Given the description of an element on the screen output the (x, y) to click on. 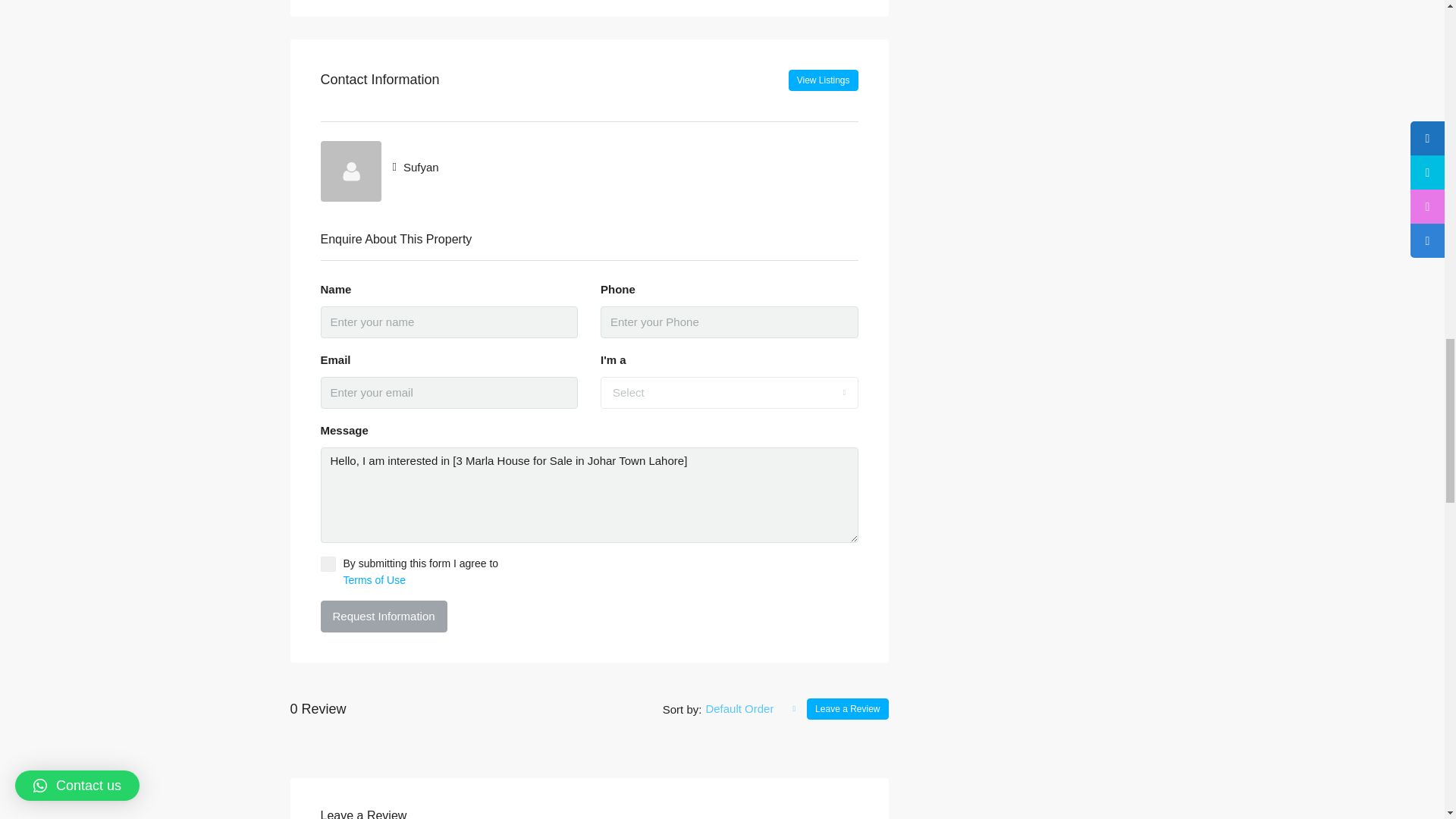
Select (729, 392)
Default Order (750, 708)
